Given the description of an element on the screen output the (x, y) to click on. 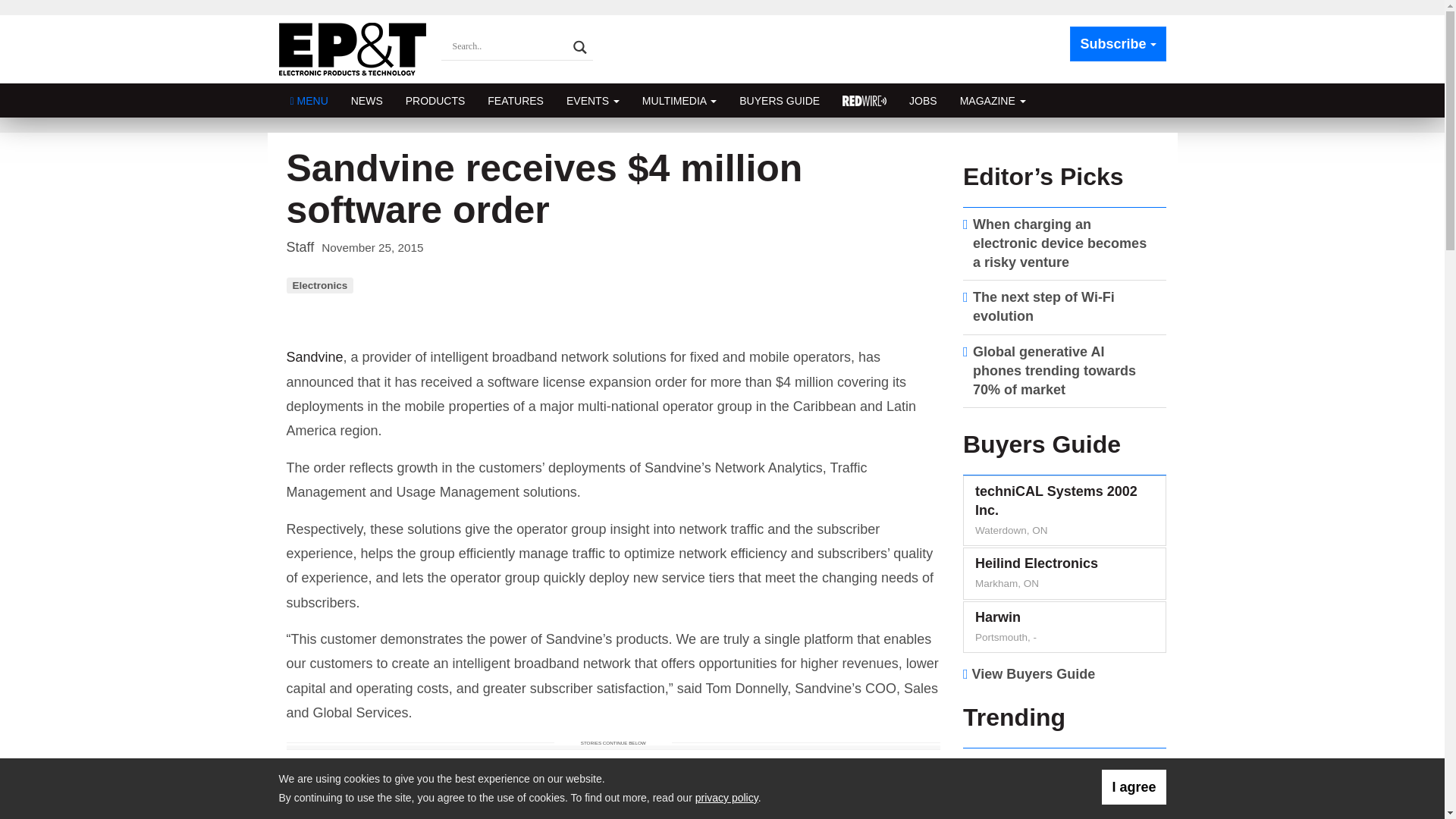
EVENTS (592, 100)
Click to show site navigation (309, 100)
NEWS (366, 100)
FEATURES (515, 100)
MULTIMEDIA (679, 100)
PRODUCTS (435, 100)
Subscribe (1118, 43)
MAGAZINE (992, 100)
JOBS (923, 100)
BUYERS GUIDE (779, 100)
